Given the description of an element on the screen output the (x, y) to click on. 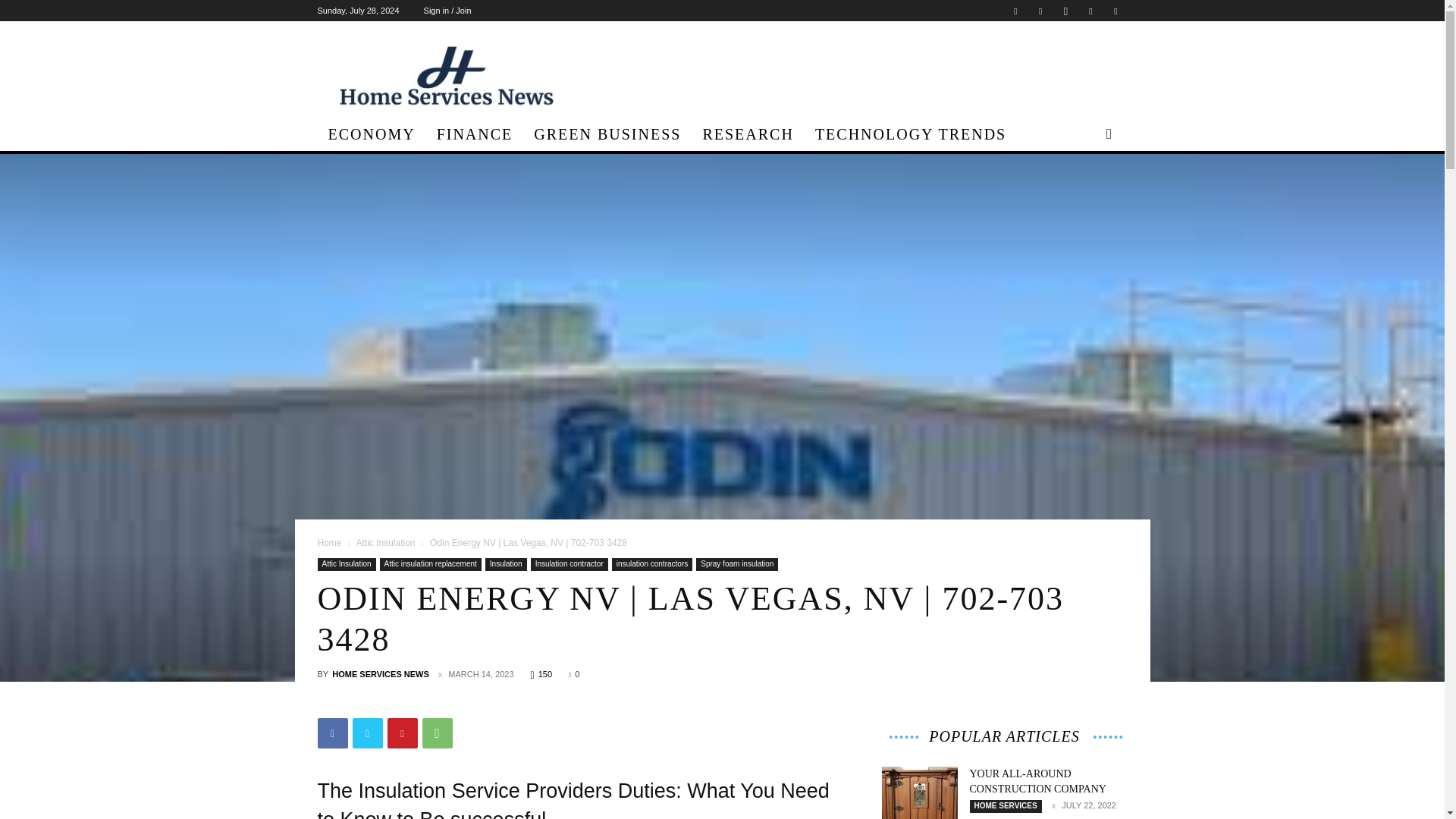
FINANCE (475, 133)
RESEARCH (747, 133)
Facebook (332, 733)
Insulation (505, 563)
Twitter (1114, 10)
Soundcloud (1090, 10)
Home (328, 542)
Attic insulation replacement (430, 563)
Search (1085, 192)
Facebook (1015, 10)
Grooveshark (1040, 10)
View all posts in Attic Insulation (384, 542)
Insulation contractor (569, 563)
Attic Insulation (384, 542)
ECONOMY (371, 133)
